Given the description of an element on the screen output the (x, y) to click on. 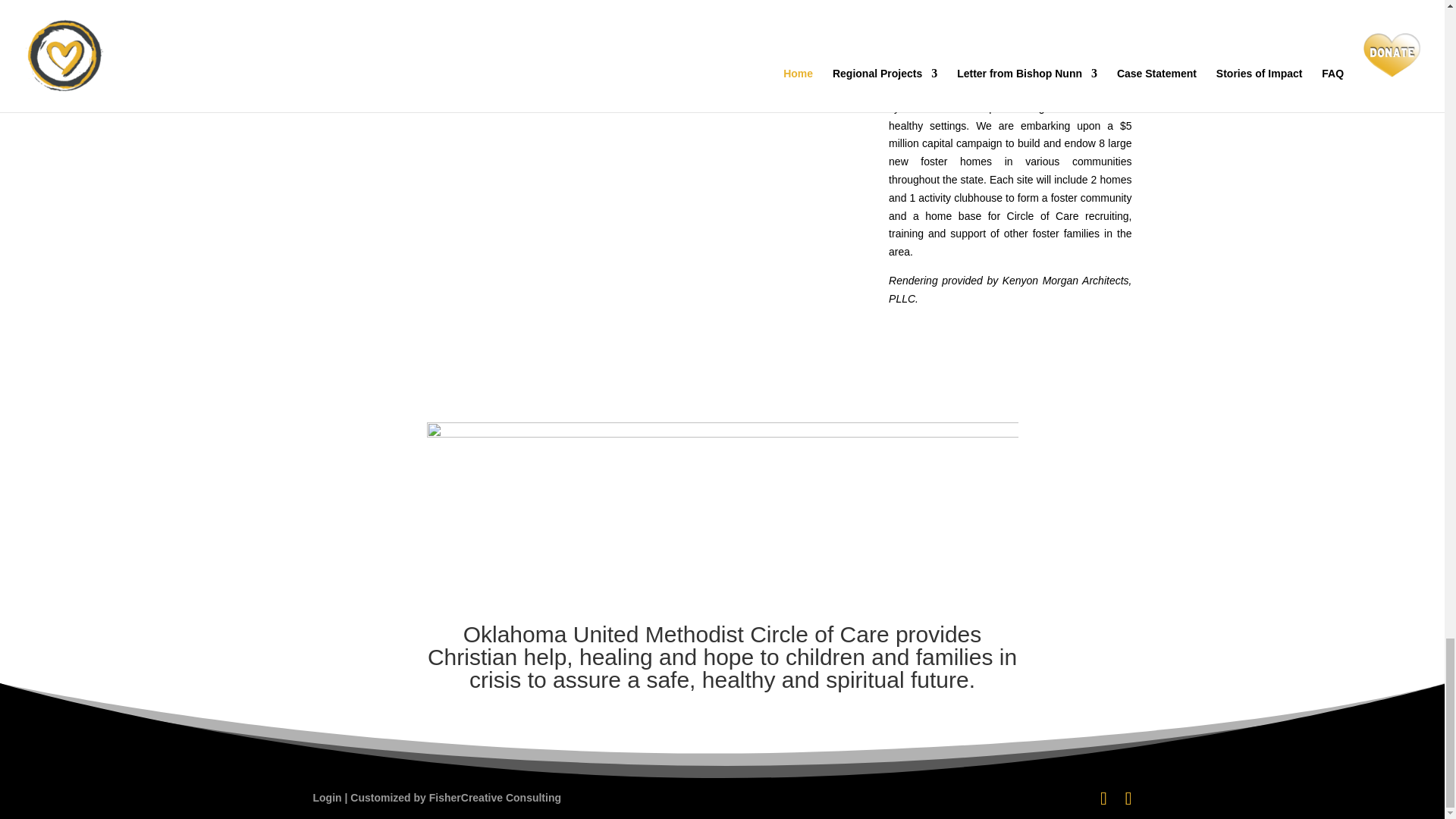
FisherCreative Consulting (494, 797)
